Given the description of an element on the screen output the (x, y) to click on. 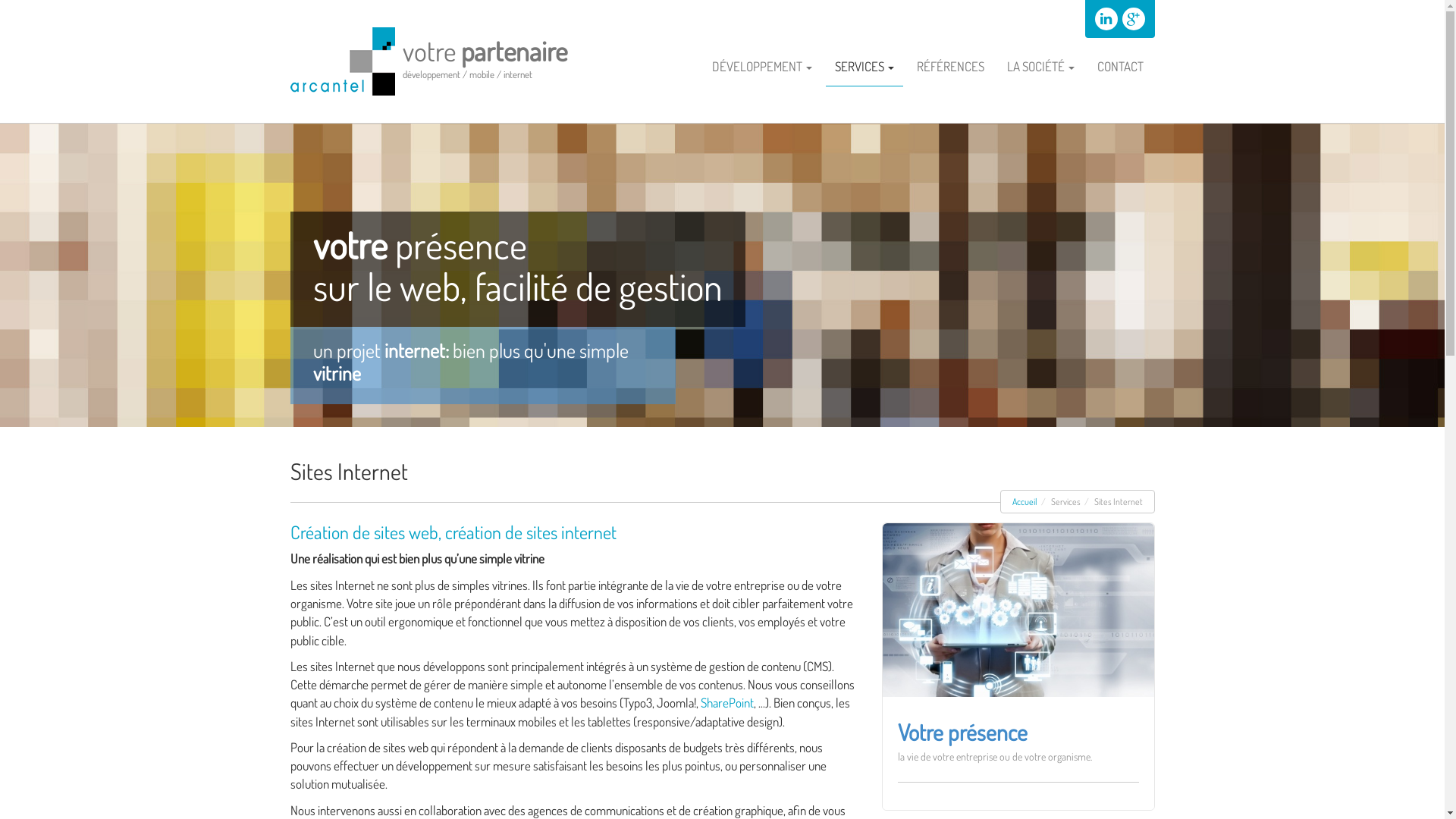
SERVICES Element type: text (863, 66)
Arcantel SA sur Google+ Element type: hover (1133, 18)
SharePoint Element type: text (726, 702)
Accueil Element type: text (1023, 501)
CONTACT Element type: text (1119, 66)
Arcantel SA sur Linkedin Element type: hover (1106, 18)
